Given the description of an element on the screen output the (x, y) to click on. 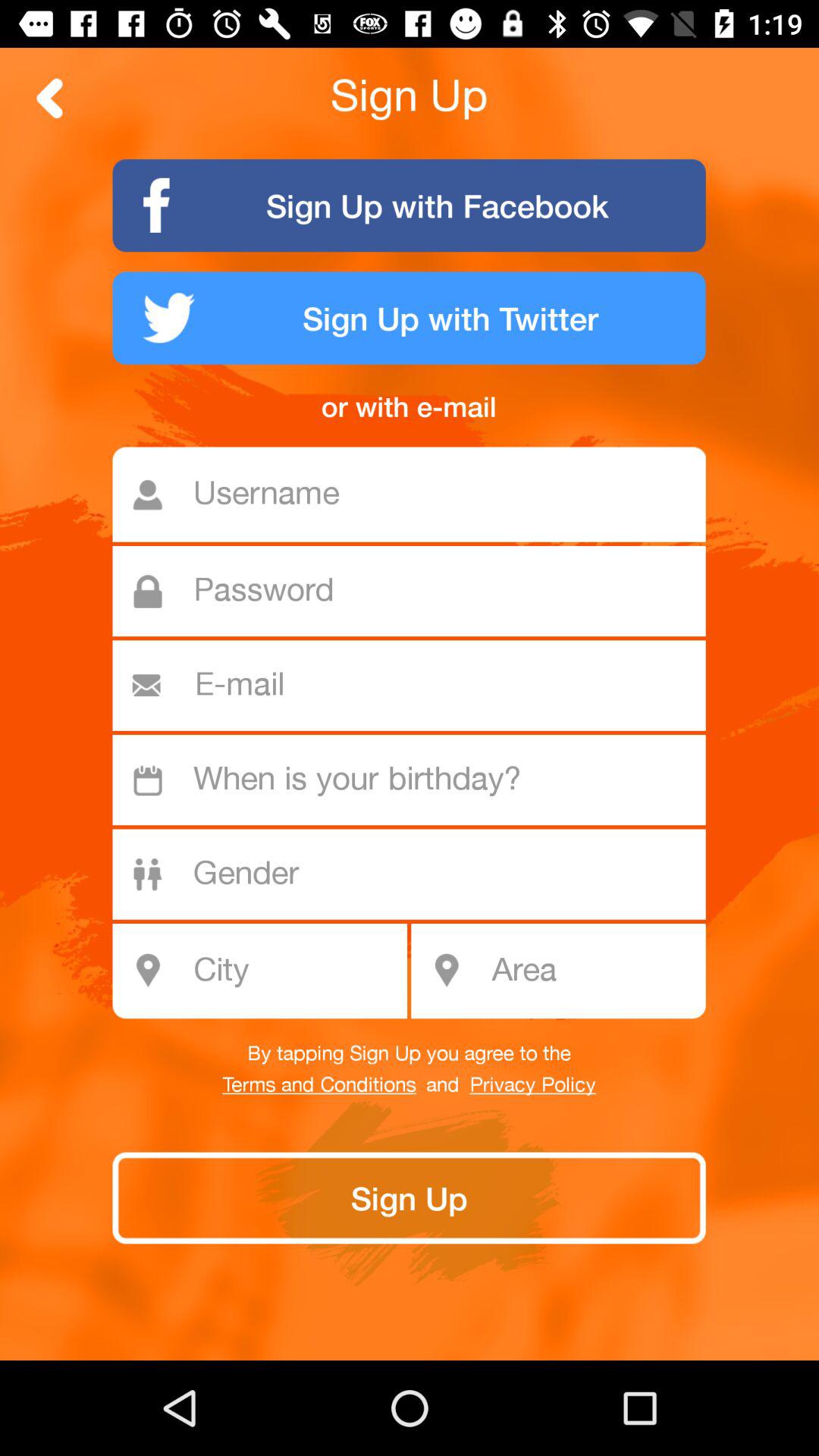
press the icon next to sign up with icon (50, 98)
